Given the description of an element on the screen output the (x, y) to click on. 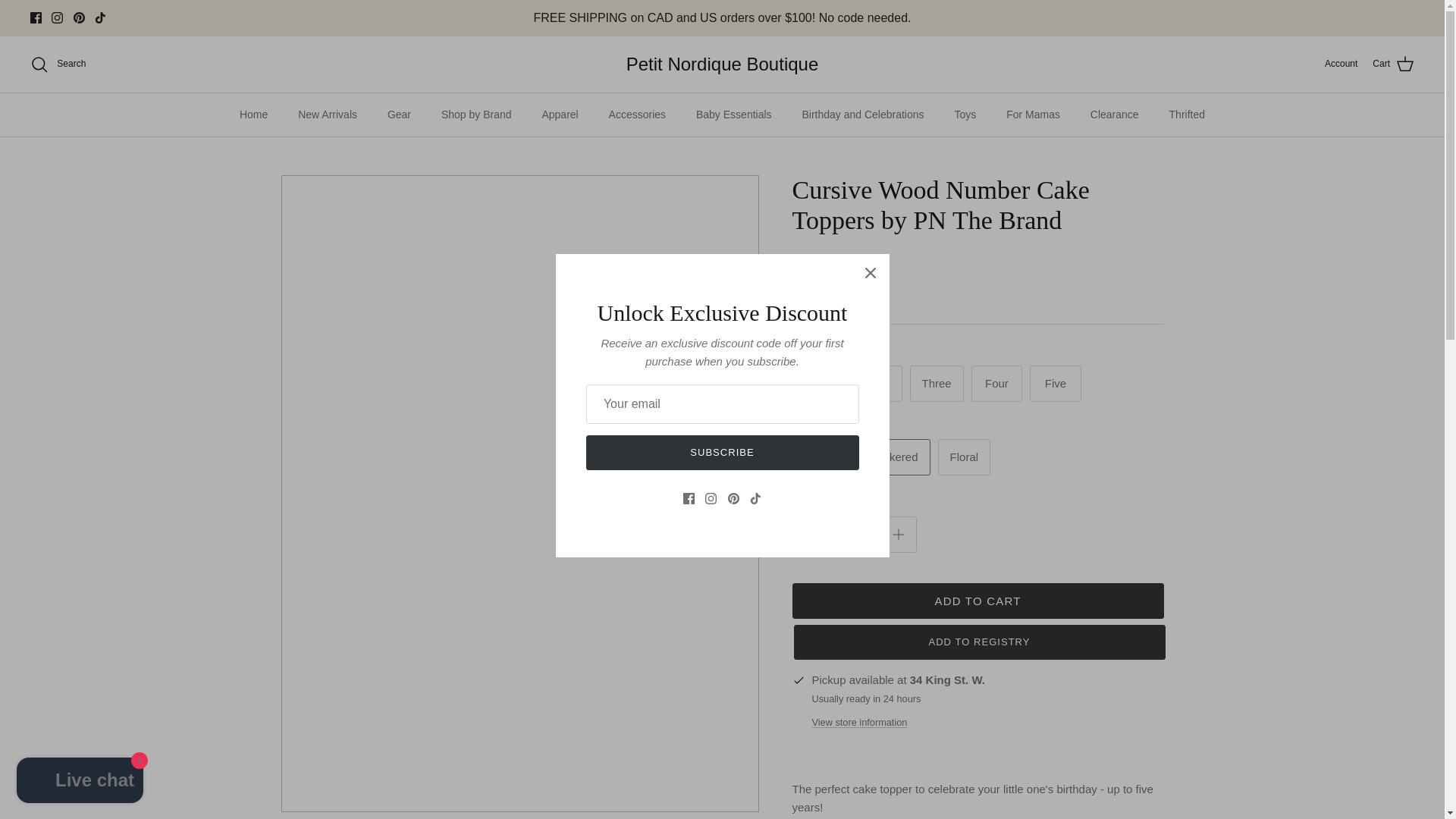
Add to Registry (978, 642)
Plus (897, 534)
Instagram (56, 17)
Account (1340, 63)
Facebook (36, 17)
Cart (1393, 64)
Shopify online store chat (79, 781)
New Arrivals (327, 114)
Search (57, 64)
Gear (399, 114)
Minus (809, 534)
Instagram (56, 17)
1 (853, 534)
RIGHT (741, 493)
Petit Nordique Boutique (722, 63)
